Given the description of an element on the screen output the (x, y) to click on. 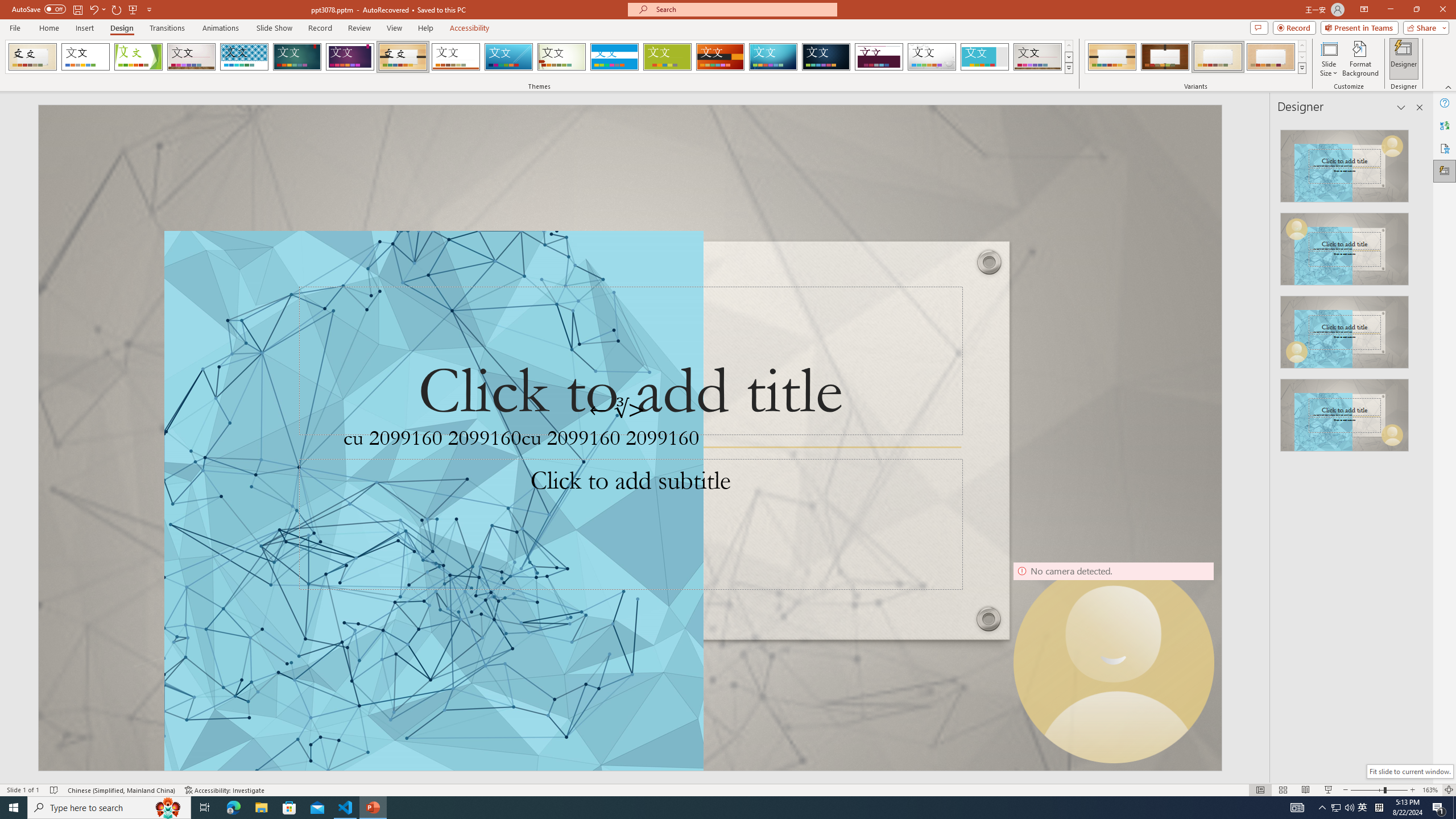
Organic (403, 56)
Translator (1444, 125)
Spell Check No Errors (54, 790)
Zoom to Fit  (1449, 790)
Integral (244, 56)
Slide Size (1328, 58)
Camera 9, No camera detected. (1112, 662)
Design (122, 28)
